Given the description of an element on the screen output the (x, y) to click on. 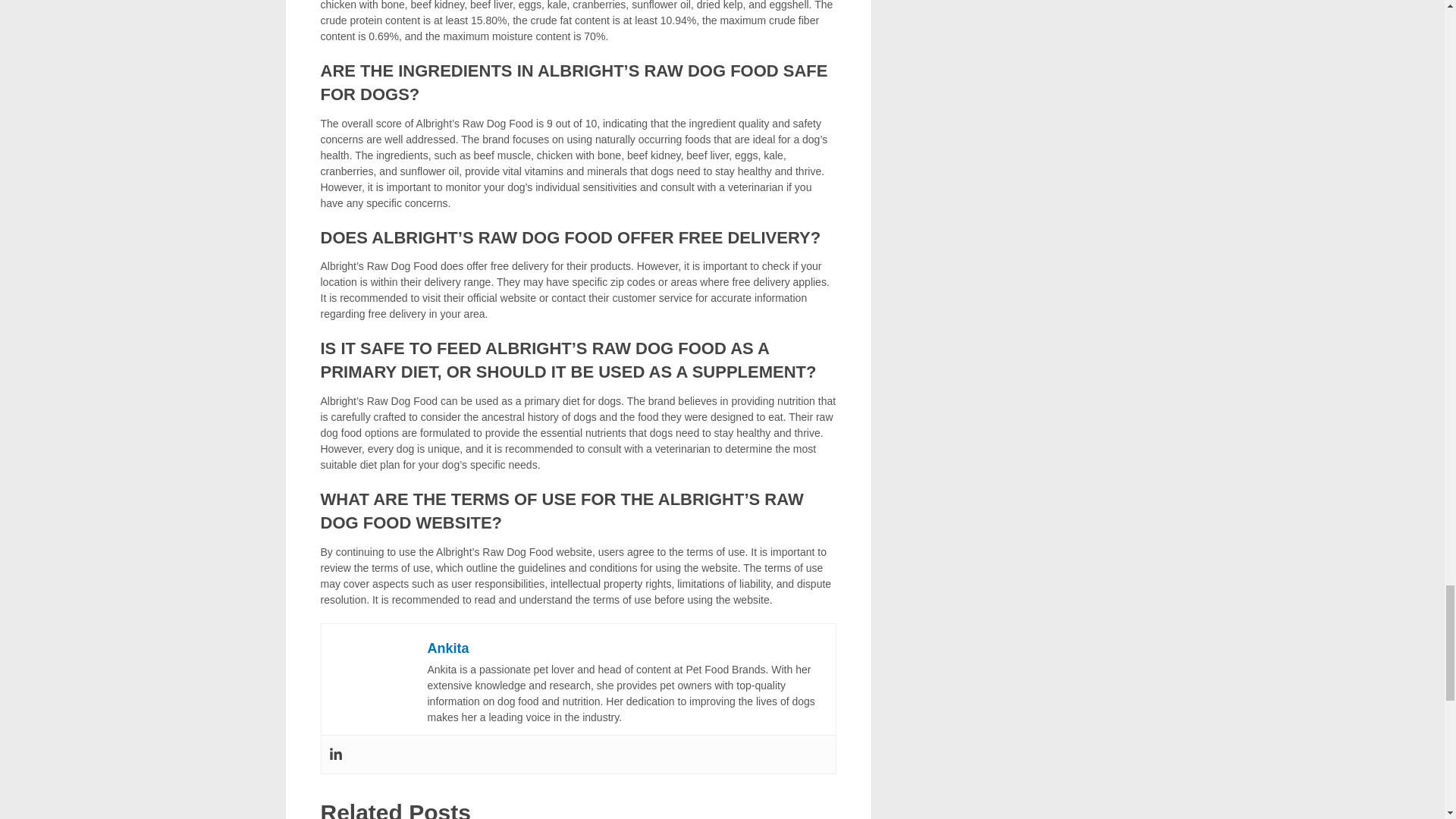
Ankita (448, 648)
Linkedin (335, 754)
